Given the description of an element on the screen output the (x, y) to click on. 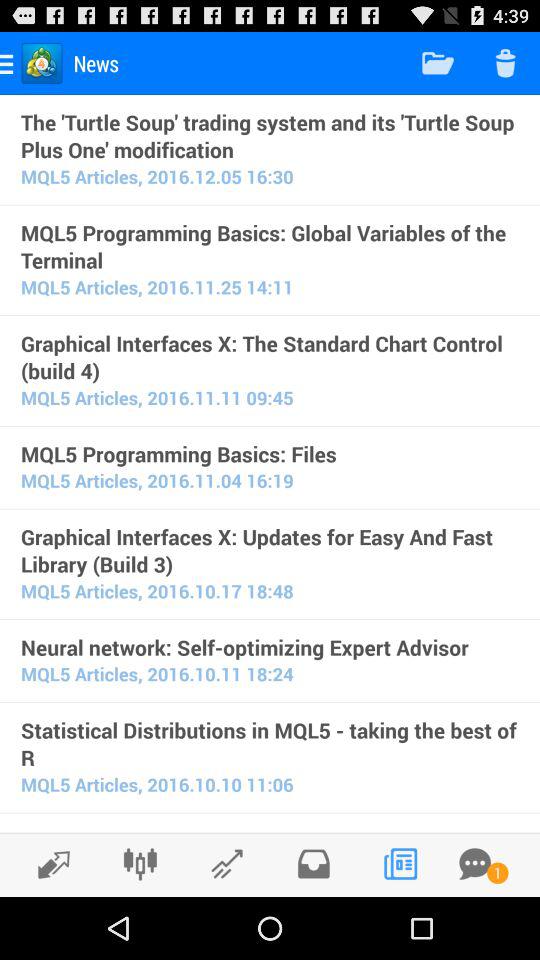
turn on statistical distributions in (270, 743)
